Given the description of an element on the screen output the (x, y) to click on. 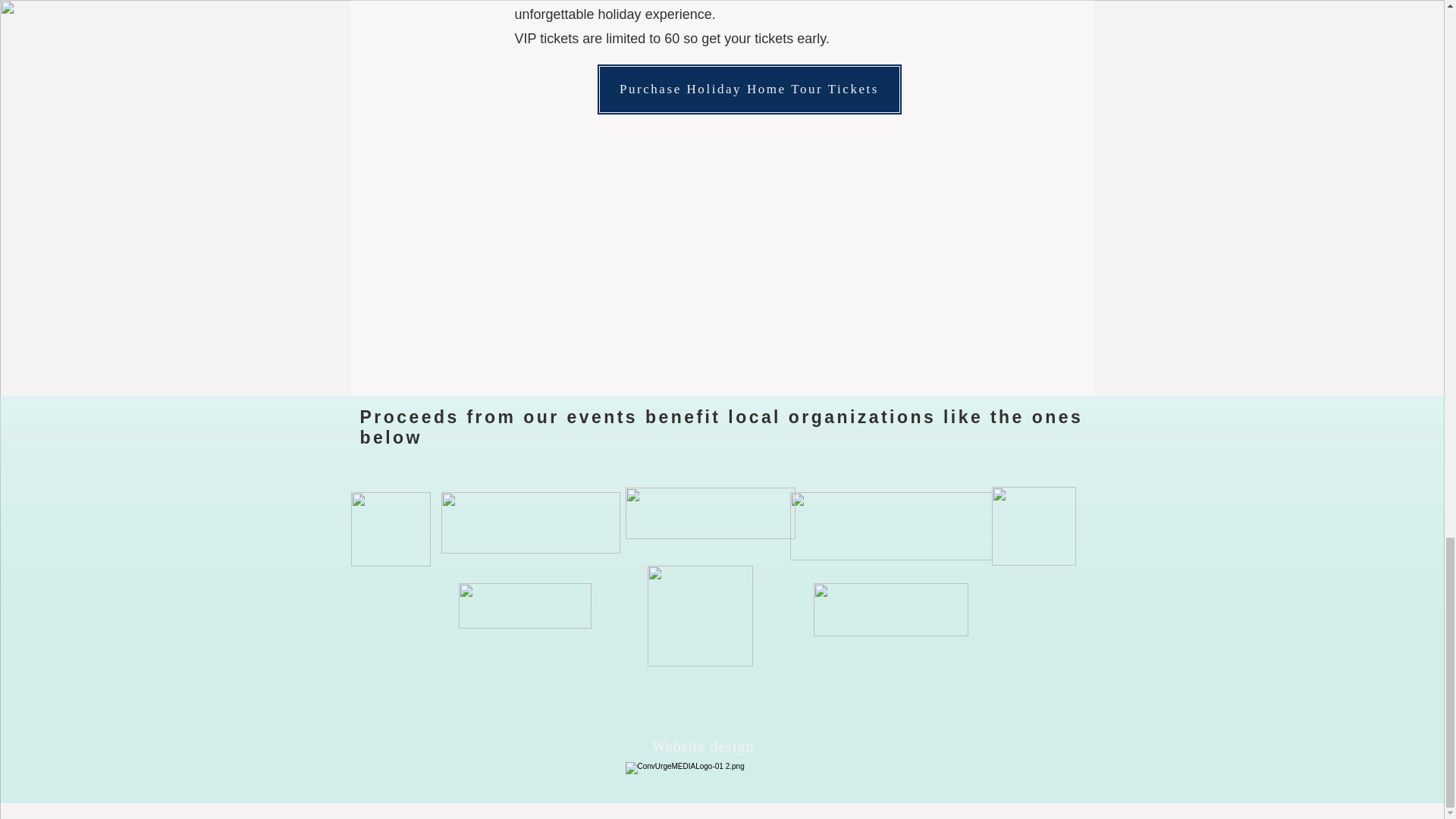
GreenTownKids-08.png (890, 609)
SaveOurCottages-08.png (524, 605)
BeachCommunityFoodPantryLogo-08.png (709, 512)
PinellasHope-09.png (1033, 525)
WestPinellasLittleLeague-08.png (530, 522)
Purchase Holiday Home Tour Tickets (748, 89)
AnonaElementary-08.png (891, 526)
CityofIndainRocksBeach-09.png (699, 615)
BeachCommunityArtCenter-09.png (389, 529)
